Given the description of an element on the screen output the (x, y) to click on. 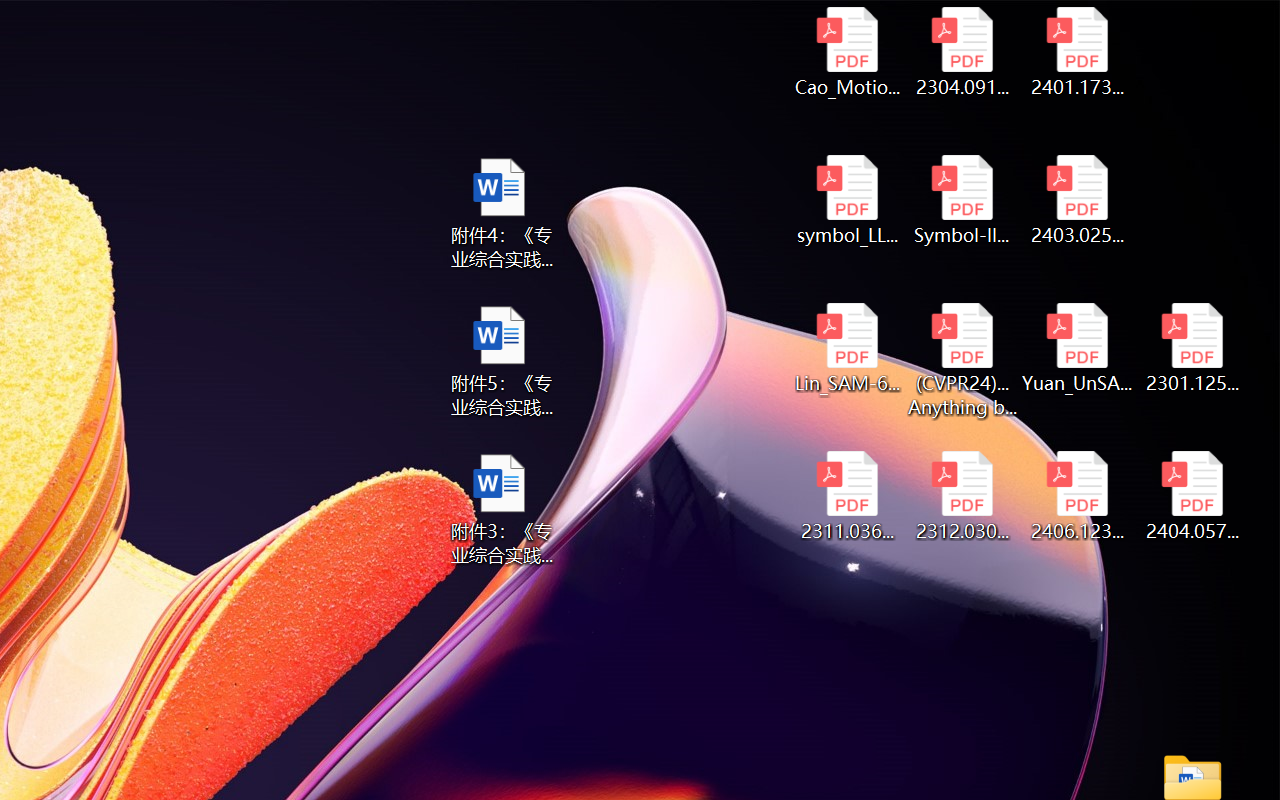
2401.17399v1.pdf (1077, 52)
